Given the description of an element on the screen output the (x, y) to click on. 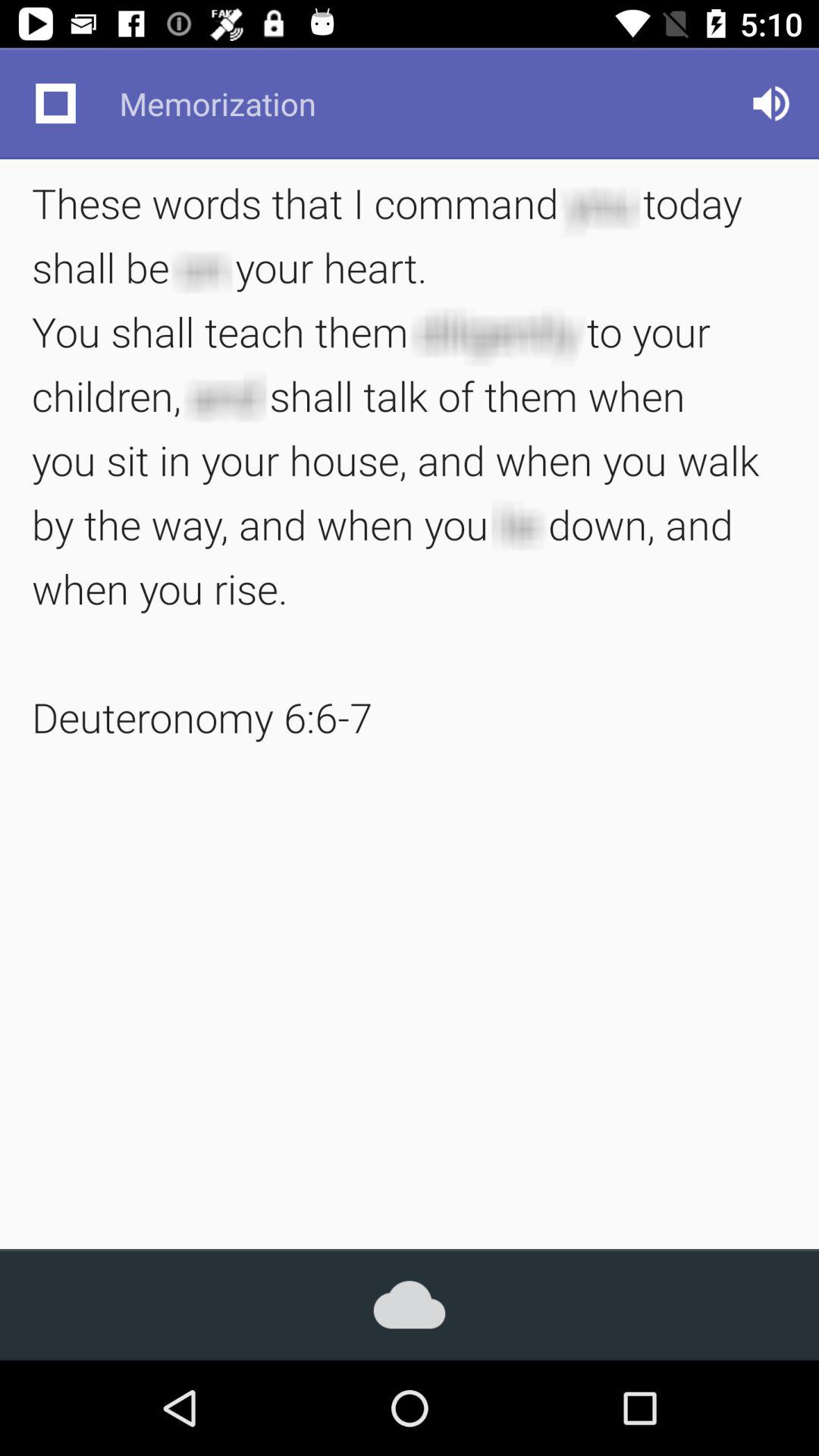
launch app to the right of the memorization (771, 103)
